Given the description of an element on the screen output the (x, y) to click on. 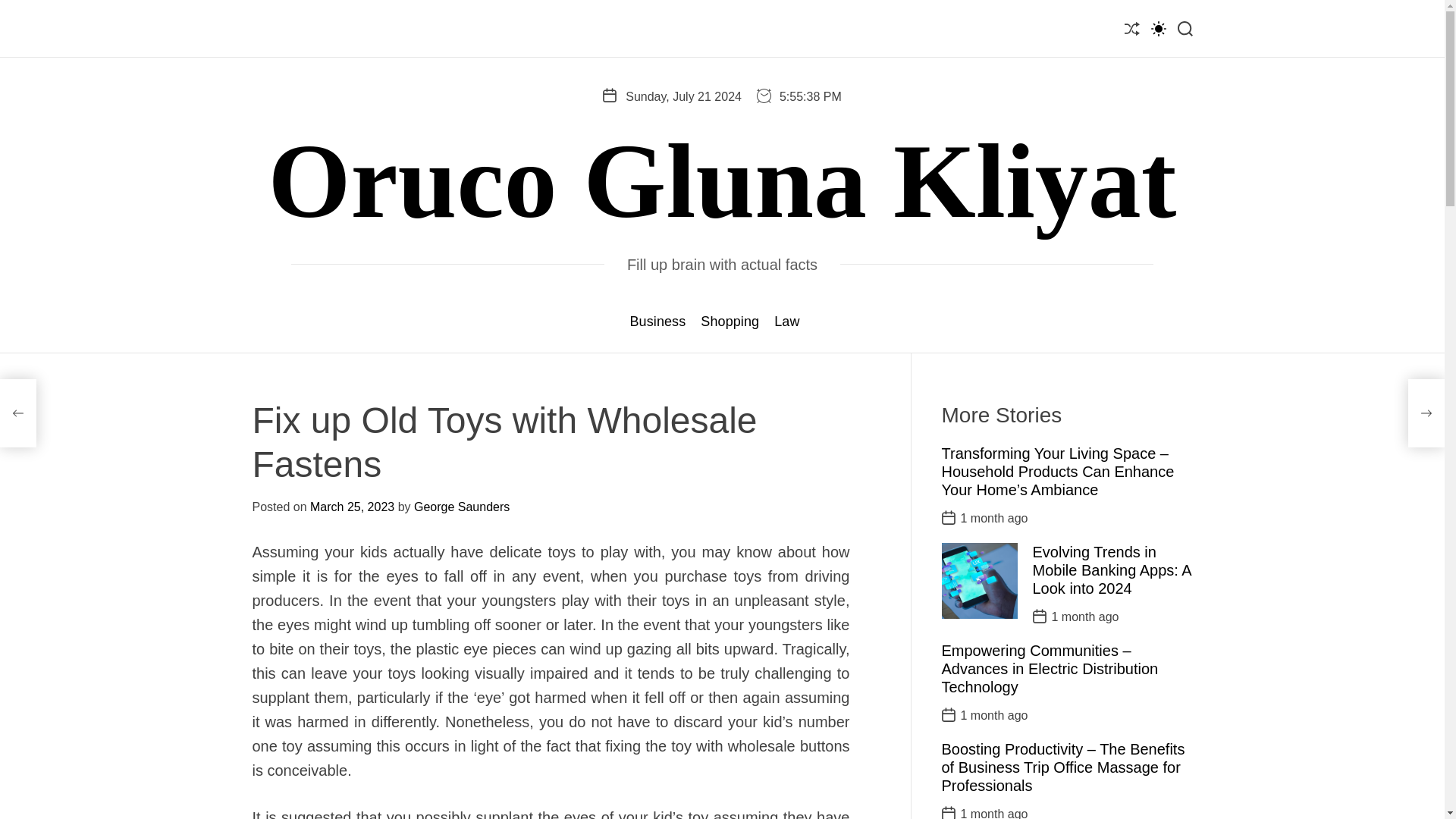
Business (656, 322)
Oruco Gluna Kliyat (721, 180)
Shopping (729, 322)
George Saunders (461, 506)
March 25, 2023 (352, 506)
Evolving Trends in Mobile Banking Apps: A Look into 2024 (1112, 570)
